Given the description of an element on the screen output the (x, y) to click on. 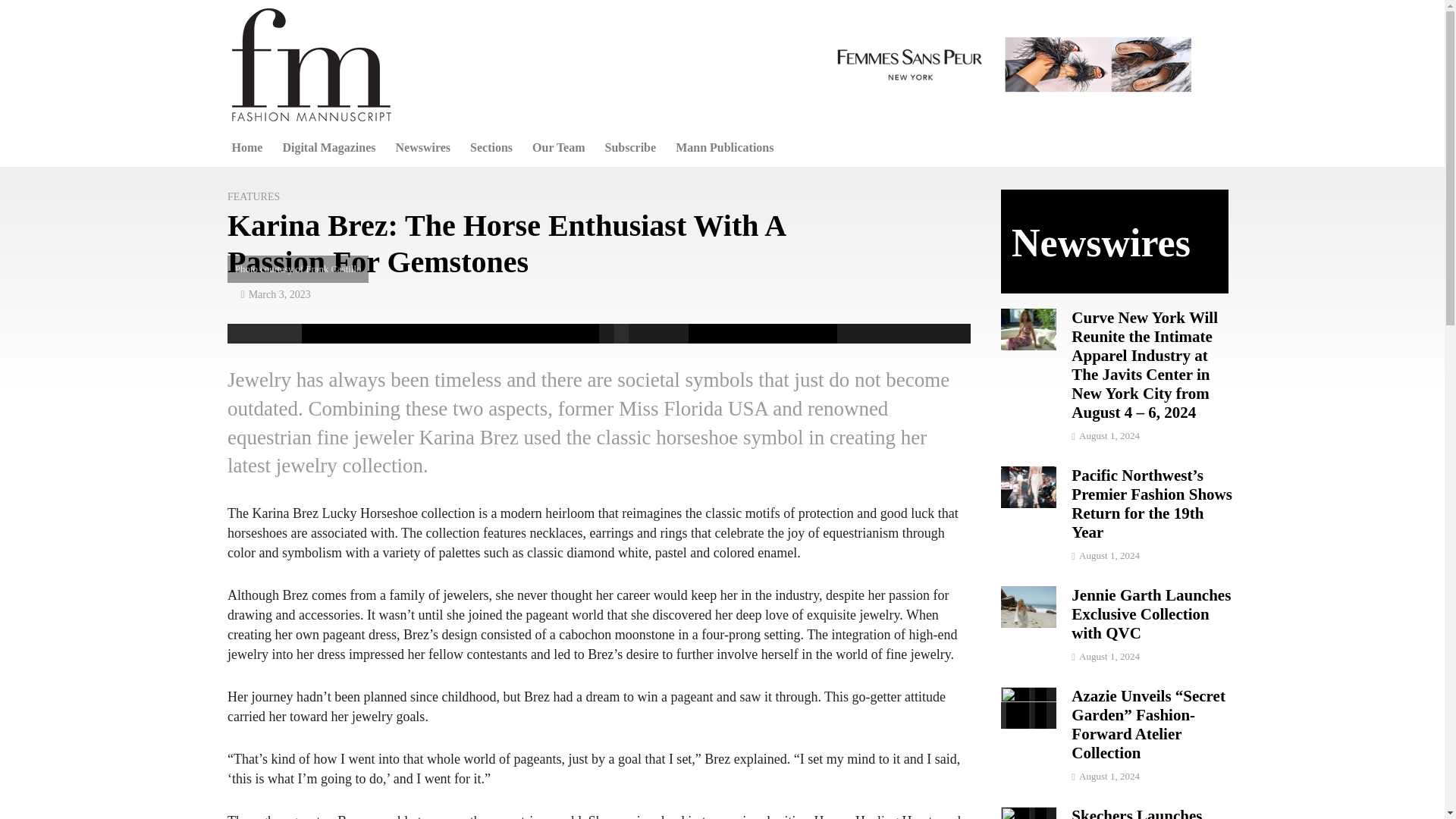
Subscribe (630, 147)
Sections (491, 147)
Newswires (422, 147)
Home (246, 147)
Our Team (558, 147)
Digital Magazines (328, 147)
Mann Publications (724, 147)
Jennie Garth Launches Exclusive Collection with QVC (1029, 605)
